Given the description of an element on the screen output the (x, y) to click on. 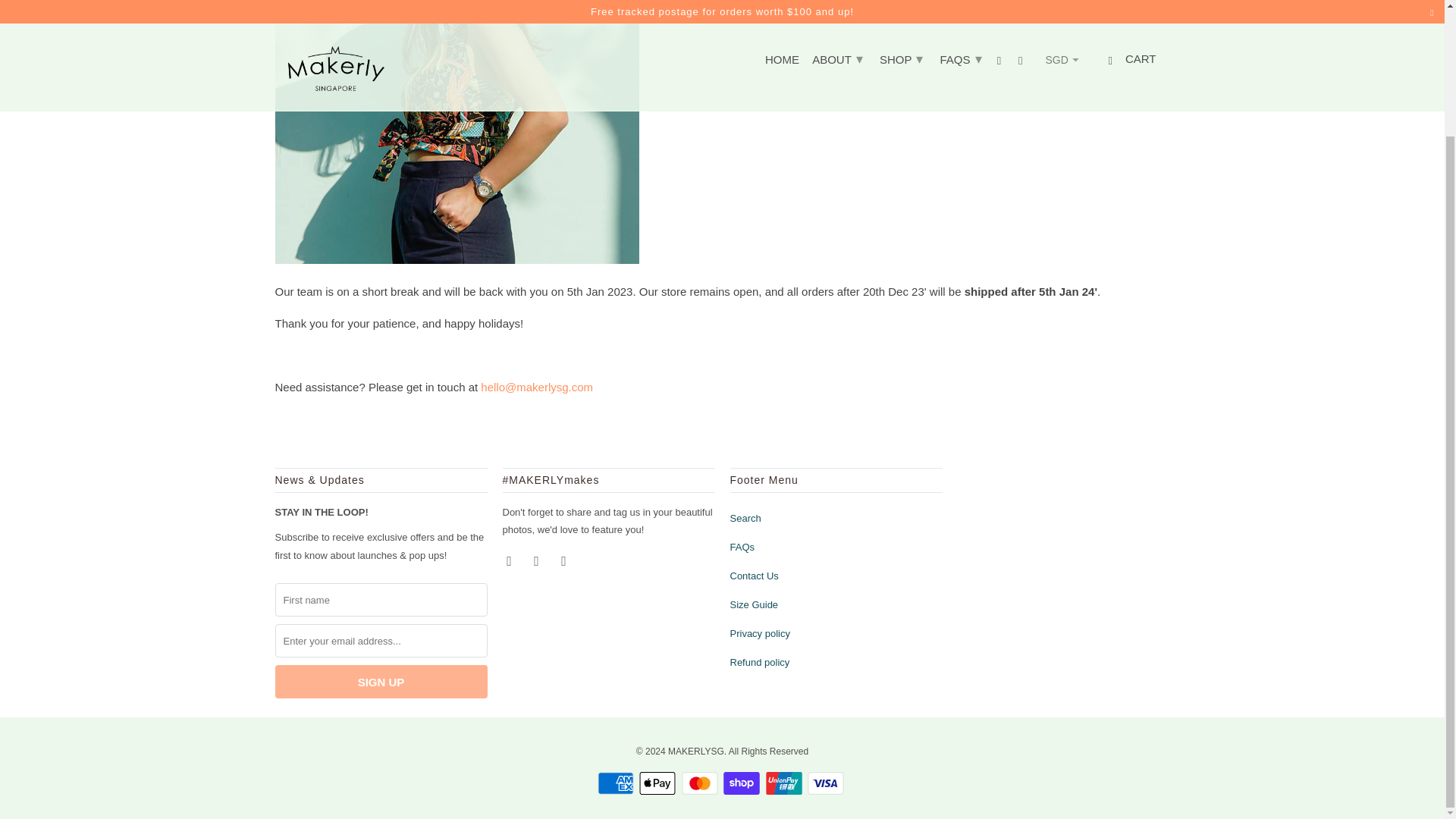
Apple Pay (658, 783)
Union Pay (785, 783)
MAKERLYSG on Facebook (510, 560)
Sign Up (380, 681)
MAKERLYSG on Instagram (537, 560)
American Express (616, 783)
Visa (827, 783)
Shop Pay (742, 783)
Email MAKERLYSG (564, 560)
Sign Up (380, 681)
